Given the description of an element on the screen output the (x, y) to click on. 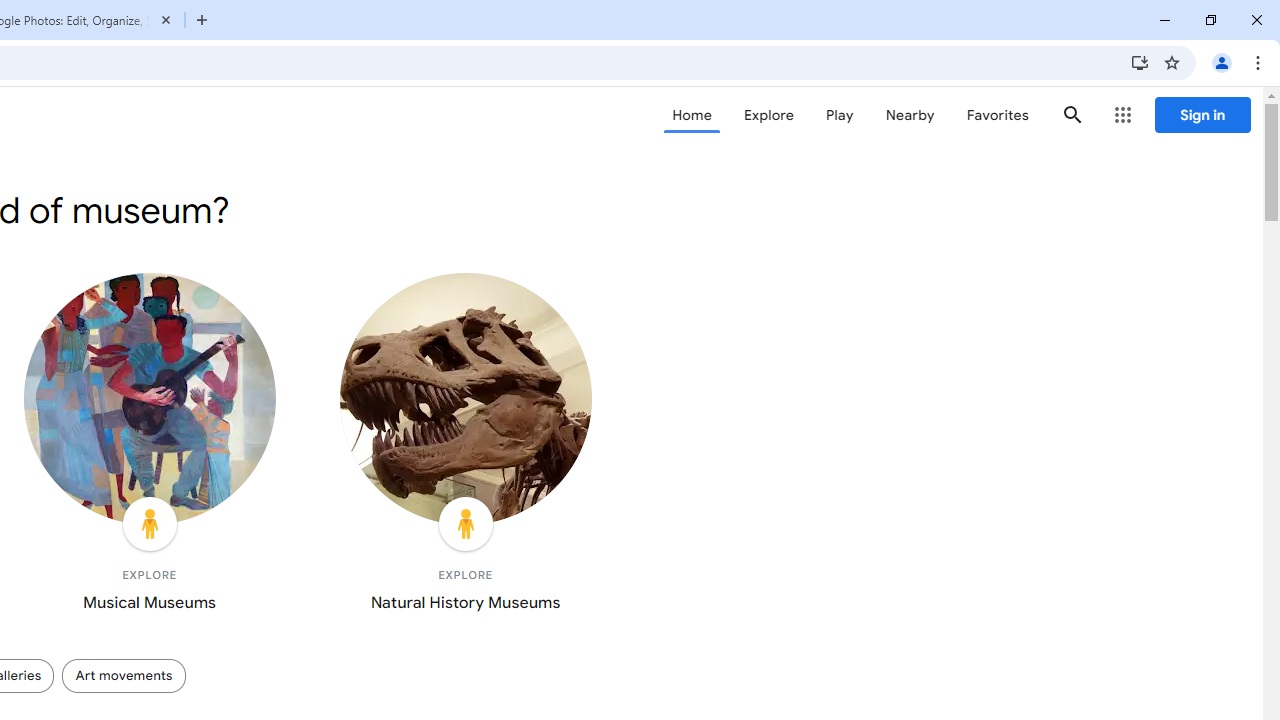
Play (840, 115)
Favorites (996, 115)
EXPLORE Natural History Museums (465, 447)
Explore (768, 115)
